Given the description of an element on the screen output the (x, y) to click on. 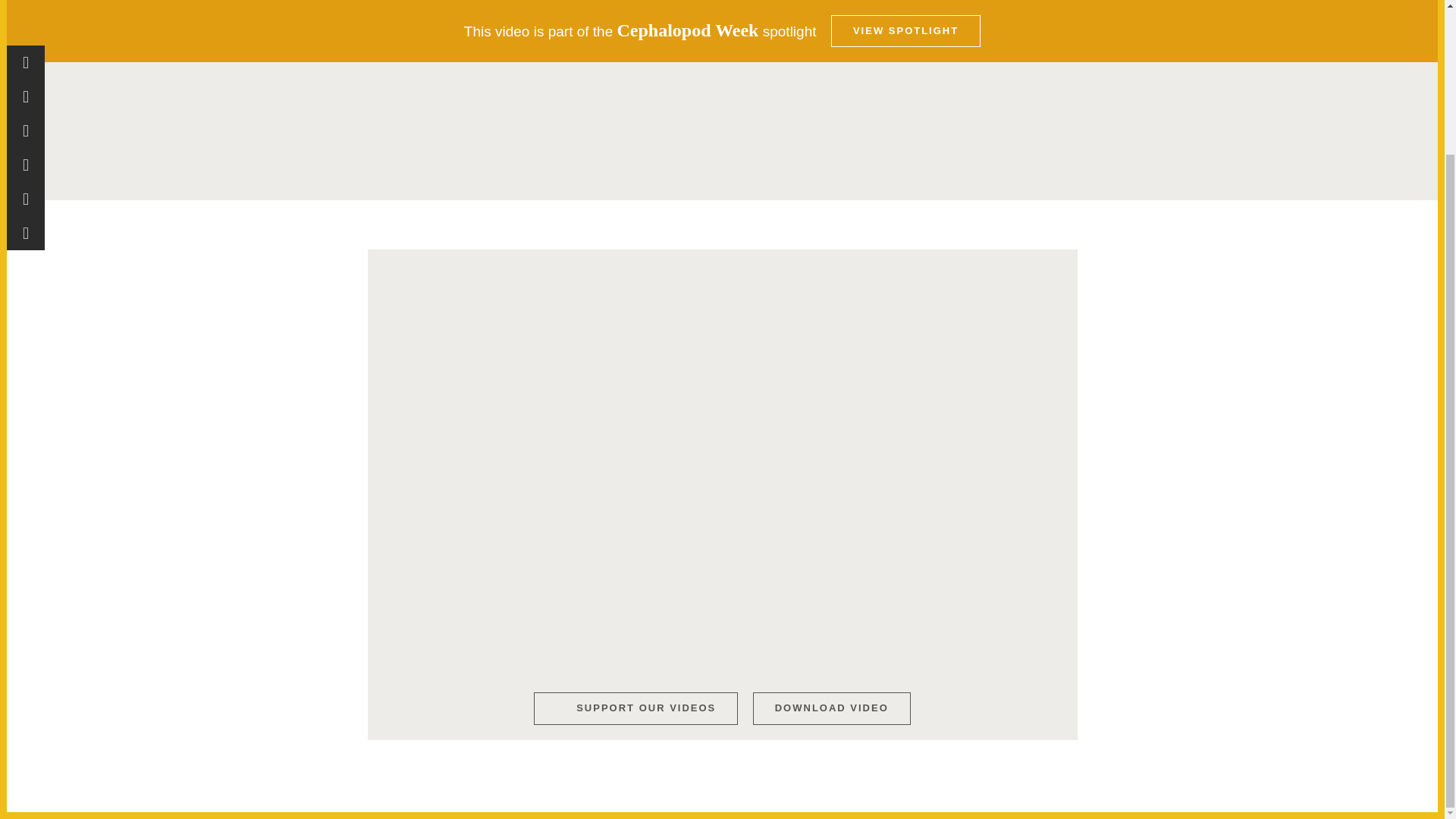
Bluesky (26, 1)
Bluesky (26, 1)
Email (26, 53)
LinkedIn (26, 19)
Email (26, 53)
LinkedIn (26, 19)
